Given the description of an element on the screen output the (x, y) to click on. 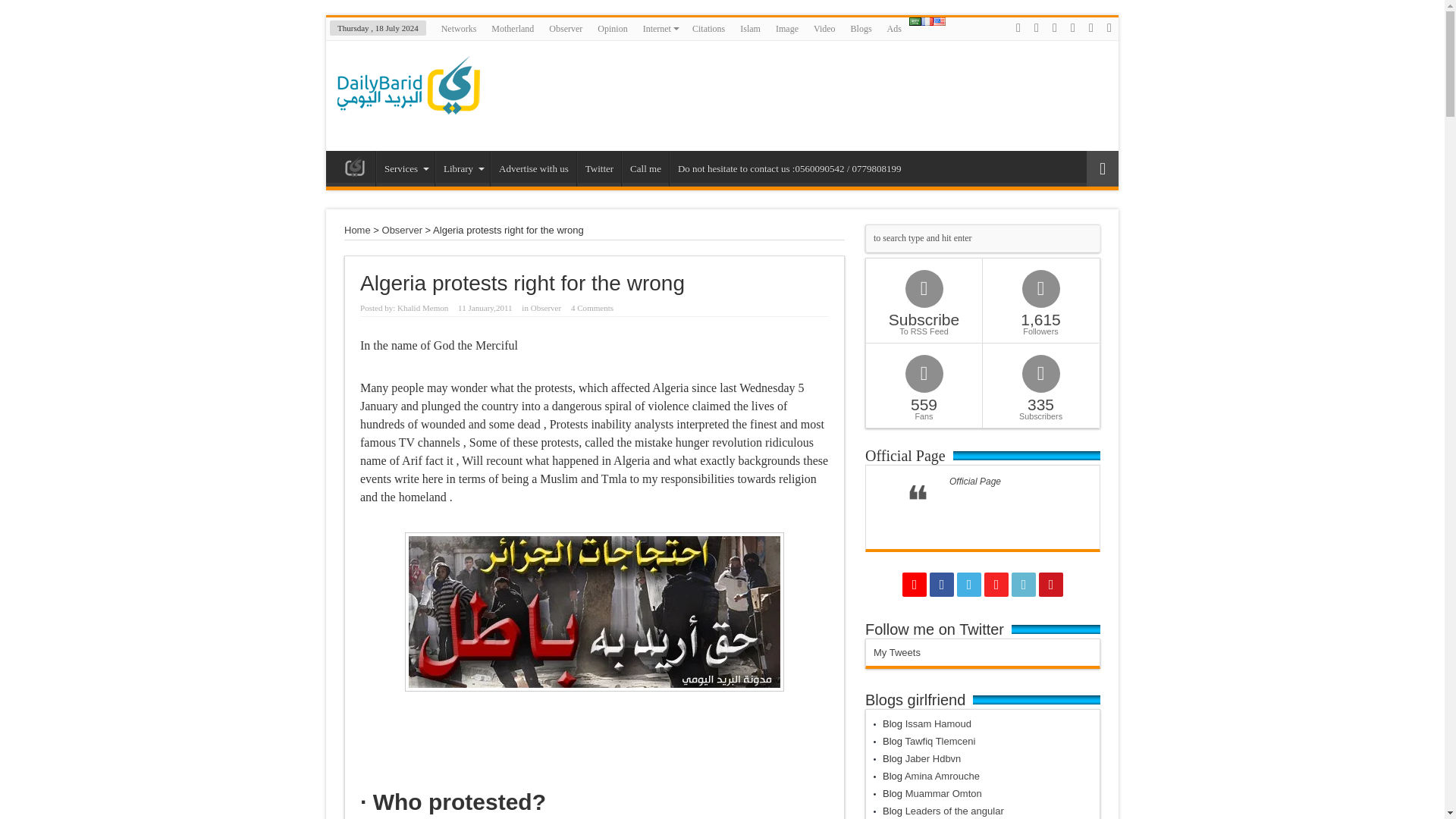
Blogs (861, 28)
Opinion (611, 28)
Citations (708, 28)
Observer (565, 28)
Services (404, 168)
Library (462, 168)
Blog (354, 170)
Daily Mail (408, 113)
Video (824, 28)
Islam (750, 28)
Internet (659, 28)
English (938, 21)
Ads (893, 28)
Motherland (512, 28)
Image (787, 28)
